Given the description of an element on the screen output the (x, y) to click on. 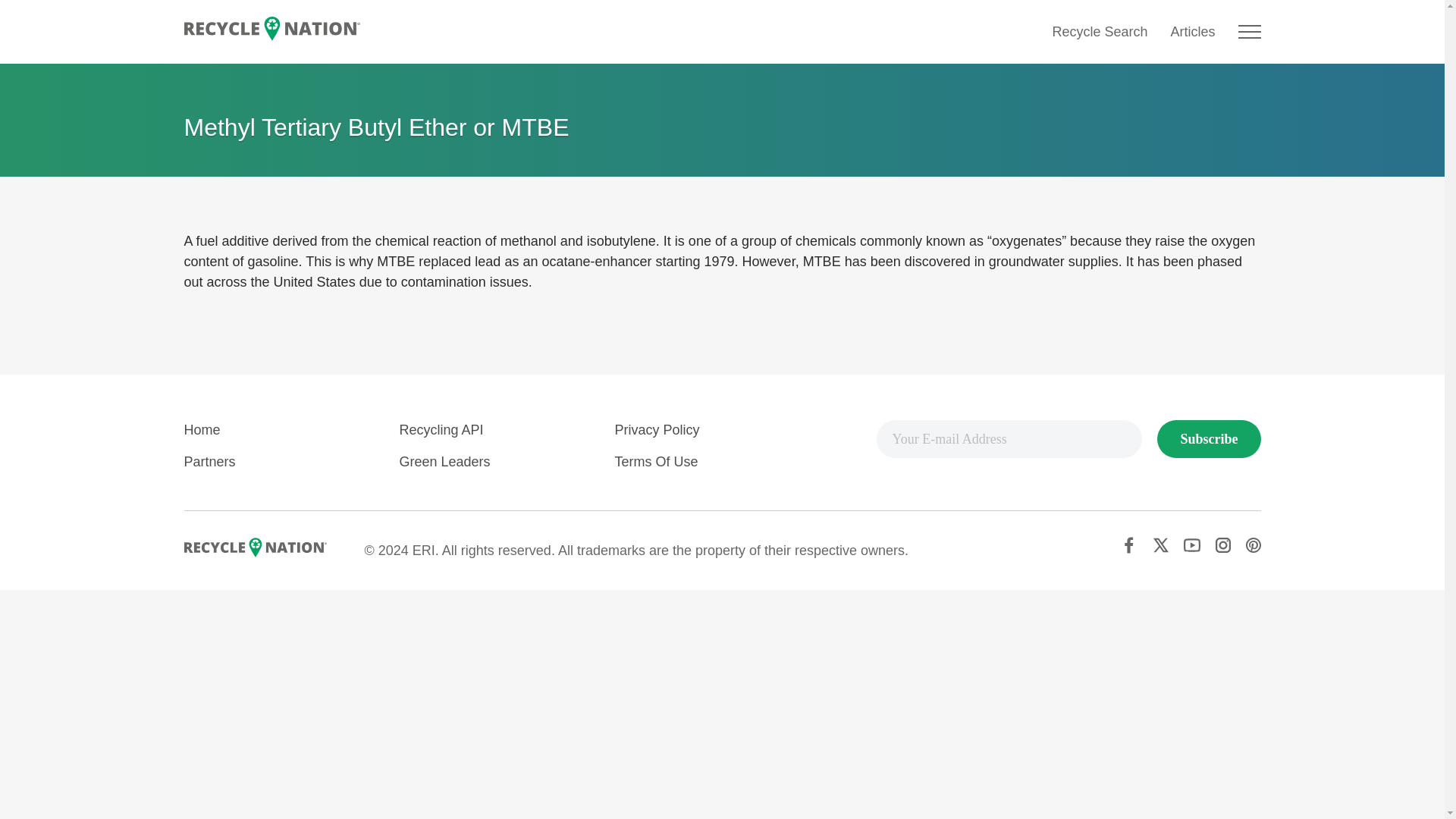
Terms Of Use (655, 461)
Recycle Search (1099, 31)
Subscribe (1208, 438)
Recycling API (440, 429)
Partners (208, 461)
Green Leaders (443, 461)
Home (201, 429)
Articles (1192, 31)
Privacy Policy (656, 429)
Subscribe (1208, 438)
